Given the description of an element on the screen output the (x, y) to click on. 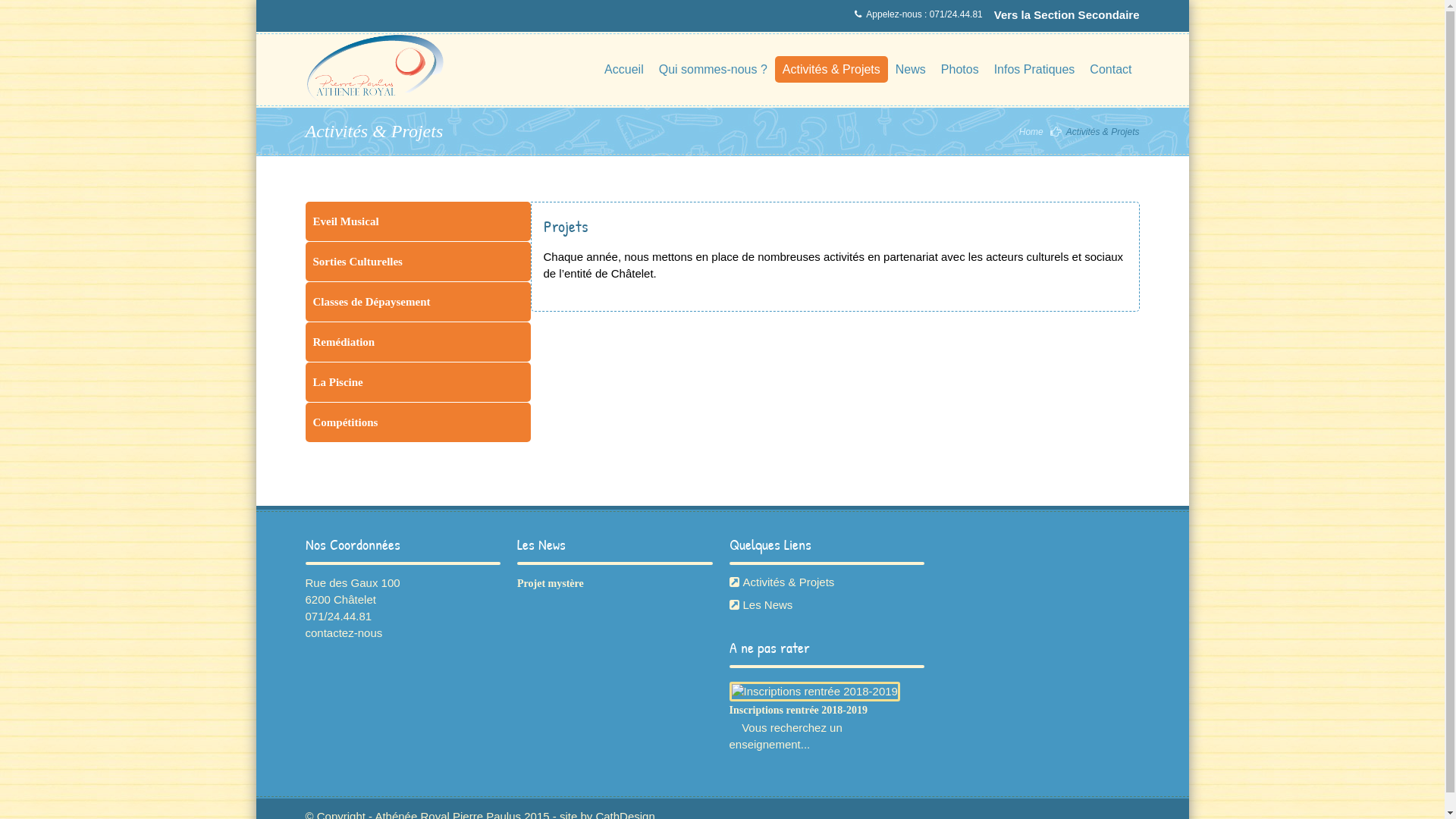
contactez-nous Element type: text (343, 632)
Photos Element type: text (959, 69)
Vers la Section Secondaire Element type: text (1066, 14)
Infos Pratiques Element type: text (1034, 69)
Eveil Musical Element type: text (417, 221)
Sorties Culturelles Element type: text (417, 261)
Home Element type: text (1031, 131)
Contact Element type: text (1110, 69)
Les News Element type: text (827, 604)
News Element type: text (910, 69)
La Piscine Element type: text (417, 381)
Accueil Element type: text (623, 69)
Qui sommes-nous ? Element type: text (713, 69)
